Given the description of an element on the screen output the (x, y) to click on. 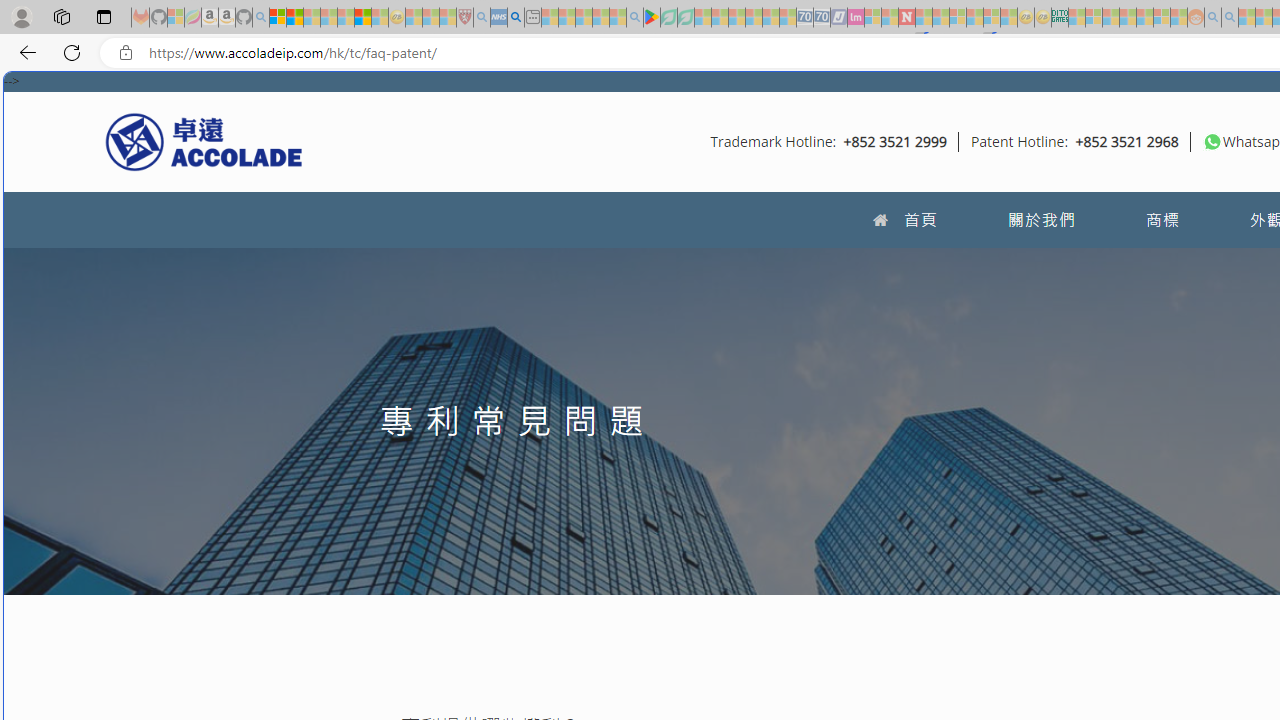
Microsoft account | Privacy - Sleeping (1093, 17)
Accolade IP HK Logo (203, 141)
Trusted Community Engagement and Contributions | Guidelines (923, 17)
